Given the description of an element on the screen output the (x, y) to click on. 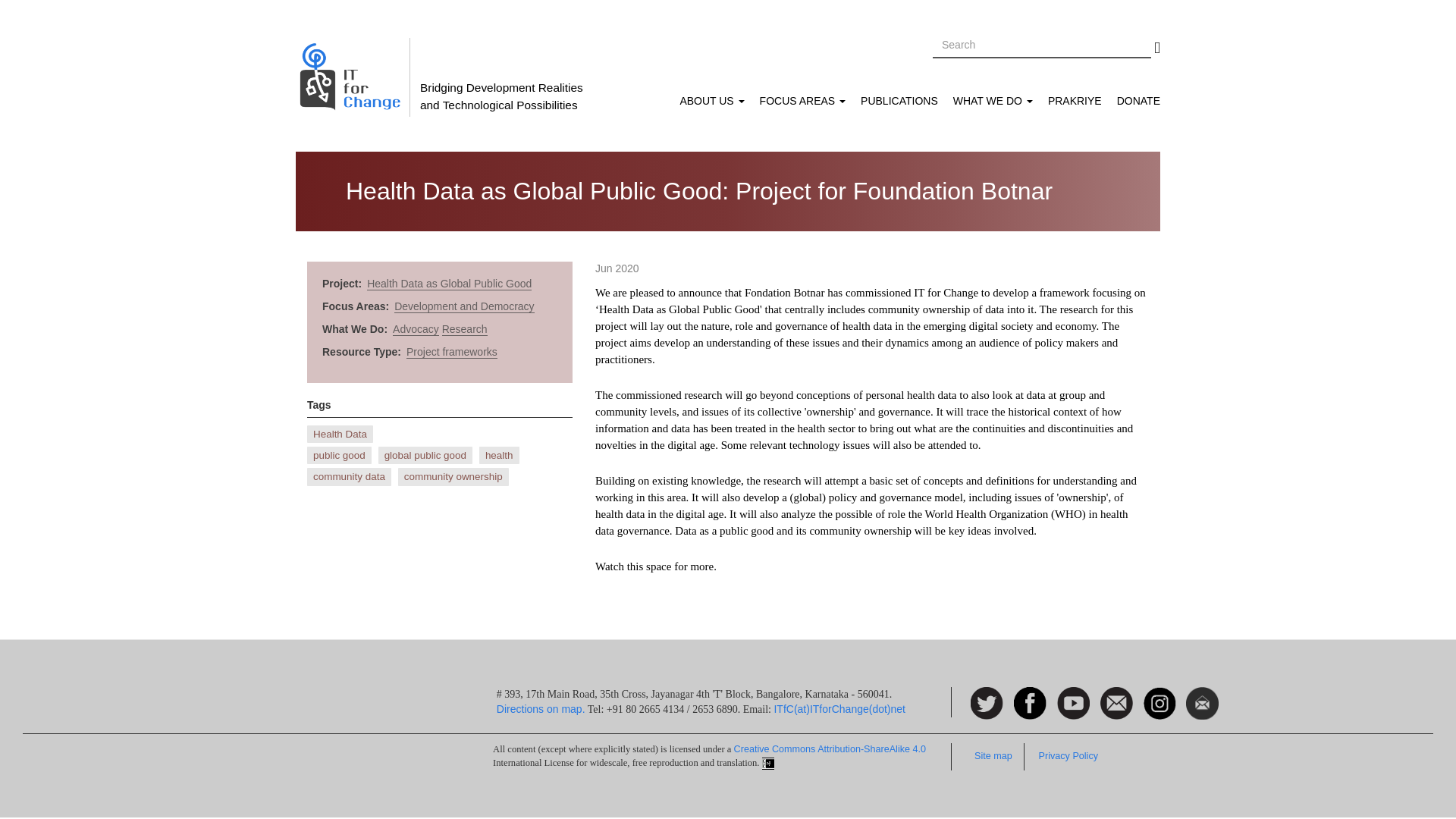
Advocacy (416, 328)
Project frameworks (451, 351)
ABOUT US (711, 100)
community ownership (452, 476)
Home (352, 77)
Research (464, 328)
PUBLICATIONS (898, 100)
health (499, 455)
WHAT WE DO (992, 100)
community data (349, 476)
Development and Democracy (464, 306)
public good (339, 455)
Health Data as Global Public Good (448, 283)
DONATE (1134, 100)
